Given the description of an element on the screen output the (x, y) to click on. 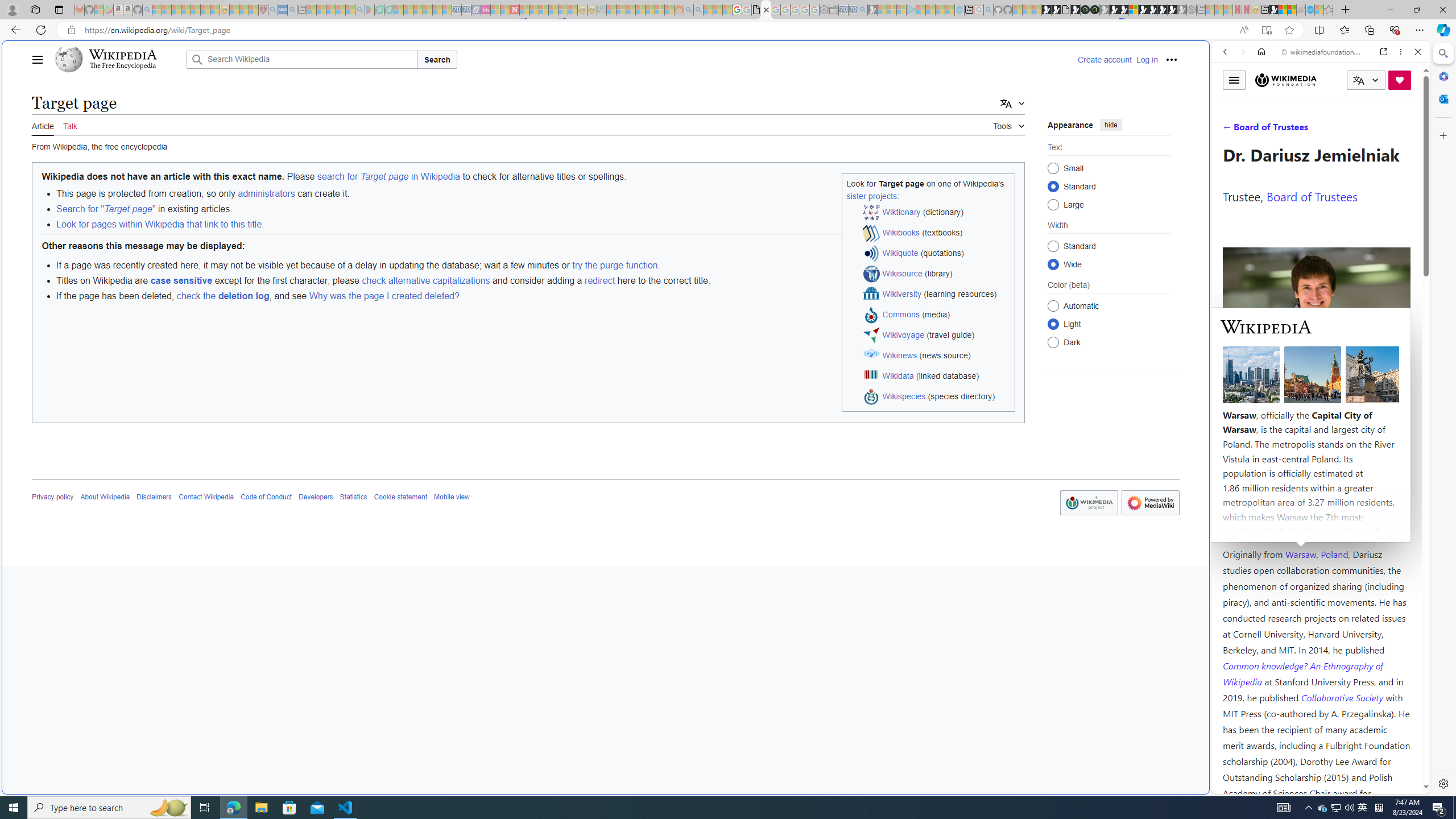
Close split screen (1208, 57)
Standard (1053, 245)
Cheap Car Rentals - Save70.com - Sleeping (853, 9)
Play Zoo Boom in your browser | Games from Microsoft Start (1055, 9)
Talk (69, 124)
Statistics (352, 496)
Utah sues federal government - Search - Sleeping (697, 9)
Create account (1104, 58)
